Given the description of an element on the screen output the (x, y) to click on. 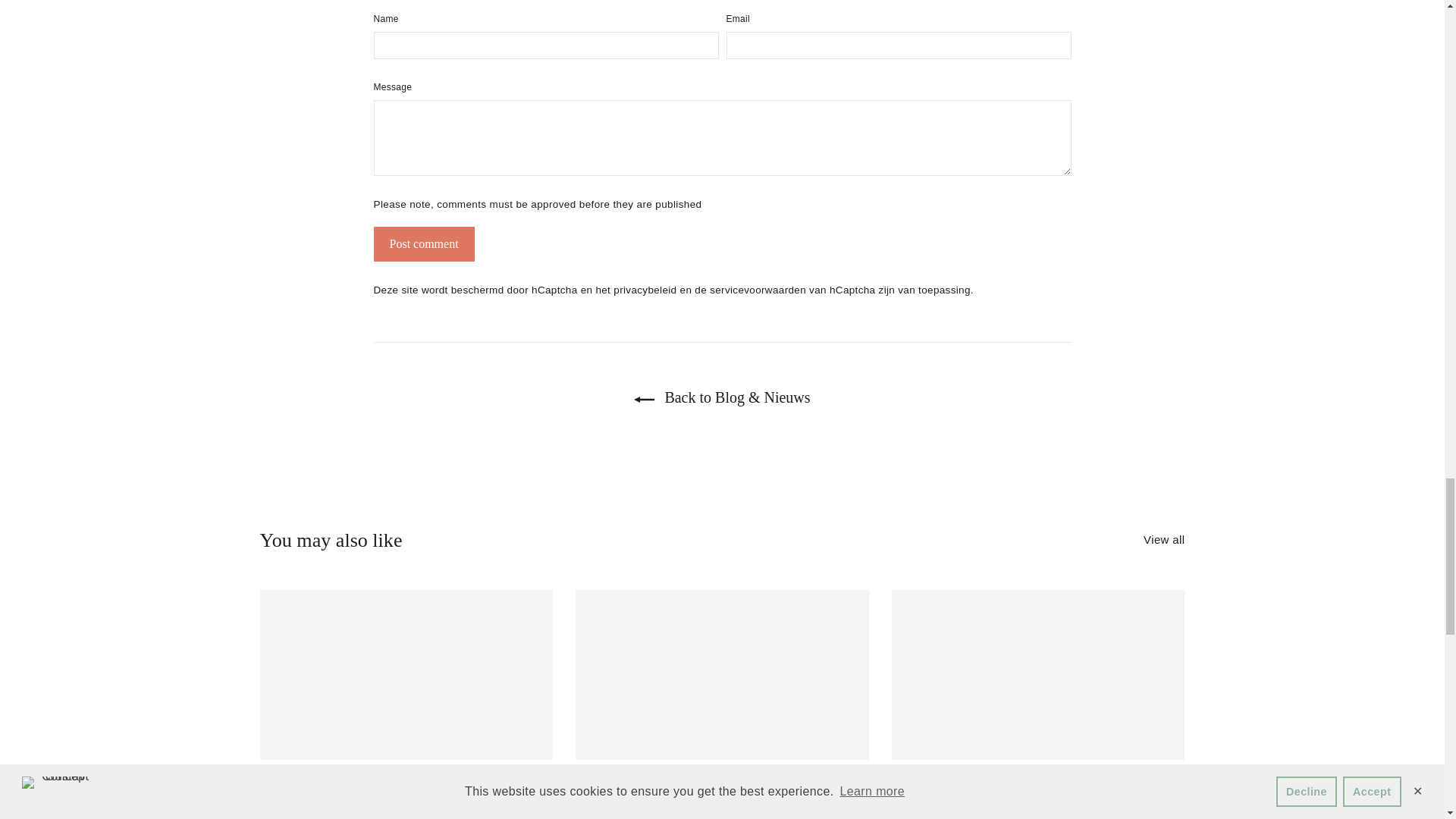
Post comment (423, 244)
icon-left-arrow (643, 399)
